Given the description of an element on the screen output the (x, y) to click on. 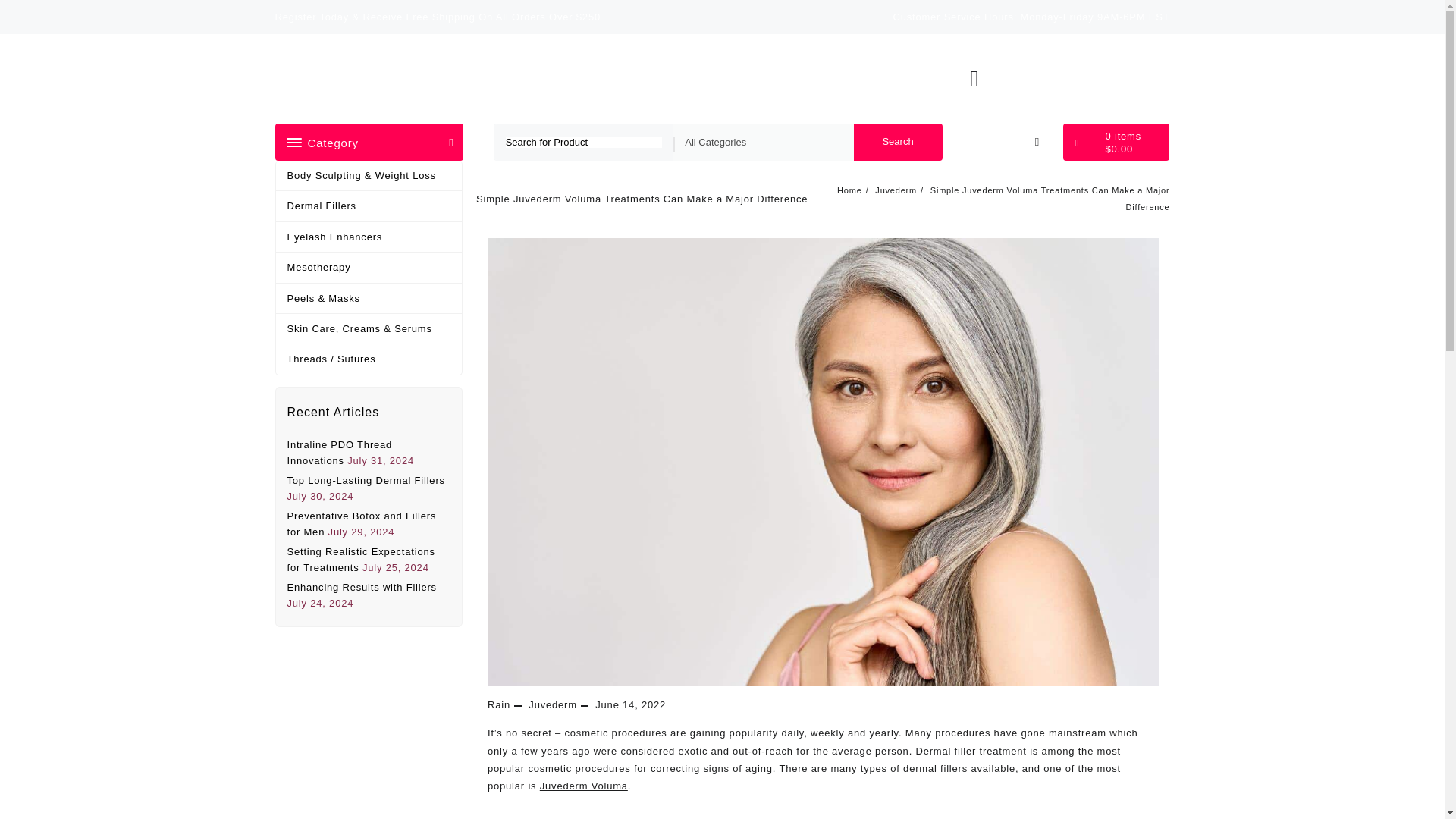
Reviews (561, 79)
About (761, 79)
Eyelash Enhancers (369, 236)
Dermal Fillers (369, 205)
FAQ (656, 79)
Home (504, 79)
Contact (706, 79)
Register (817, 79)
Blog (613, 79)
My Account (888, 79)
Mesotherapy (369, 267)
1-888-431-3772 (1068, 70)
